Given the description of an element on the screen output the (x, y) to click on. 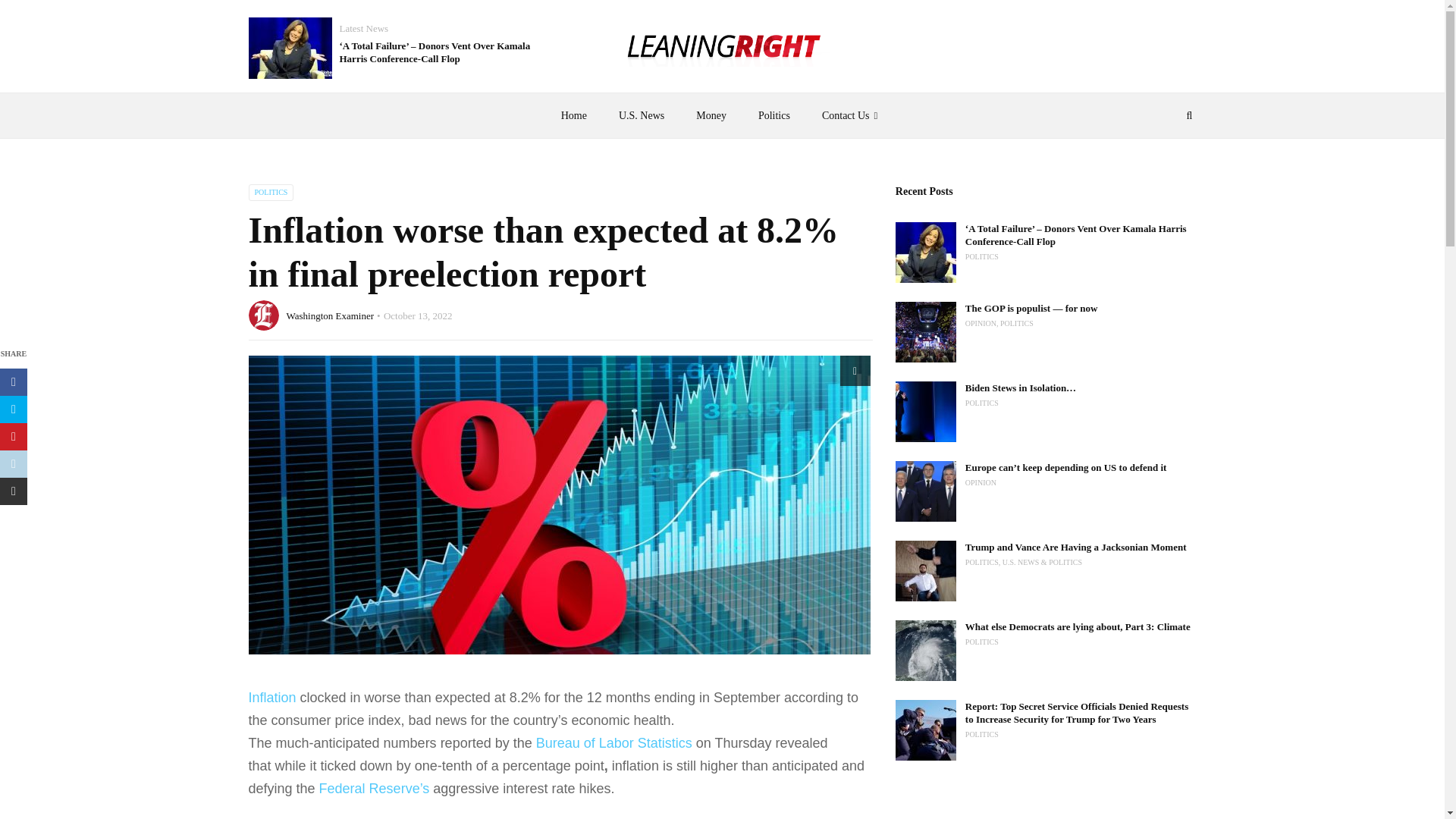
Bureau of Labor Statistics (614, 743)
POLITICS (271, 192)
Politics (774, 115)
Contact Us (852, 115)
U.S. News (640, 115)
Washington Examiner (330, 315)
Inflation (272, 697)
Money (710, 115)
Home (573, 115)
